Given the description of an element on the screen output the (x, y) to click on. 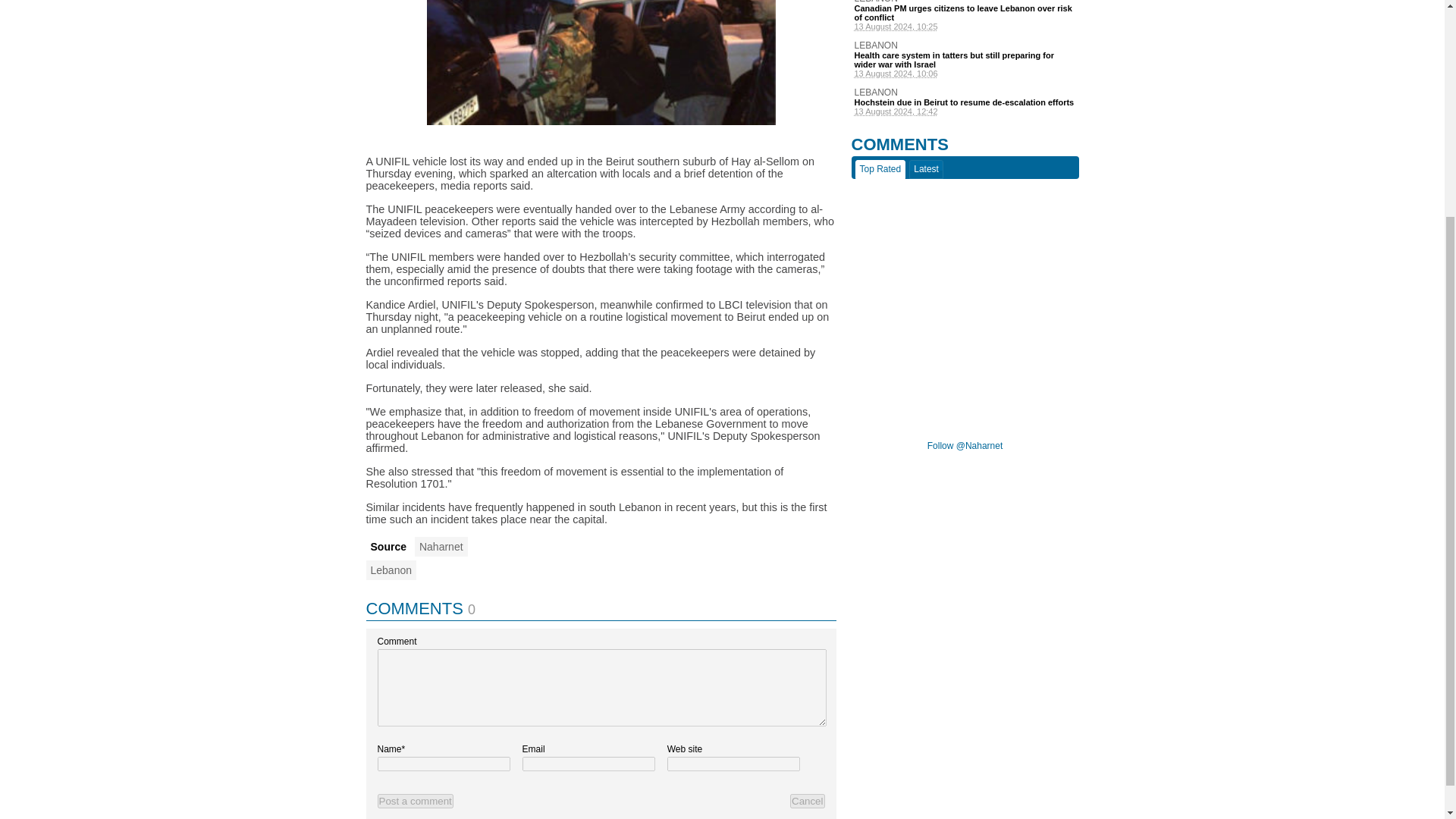
2024-08-13T09:42:24Z (964, 111)
Cancel (807, 800)
2024-08-13T07:25:18Z (964, 26)
Lebanon (390, 569)
LEBANON (964, 2)
LEBANON (964, 91)
Naharnet (440, 546)
Post a comment (414, 800)
2024-08-13T07:06:08Z (964, 72)
